Given the description of an element on the screen output the (x, y) to click on. 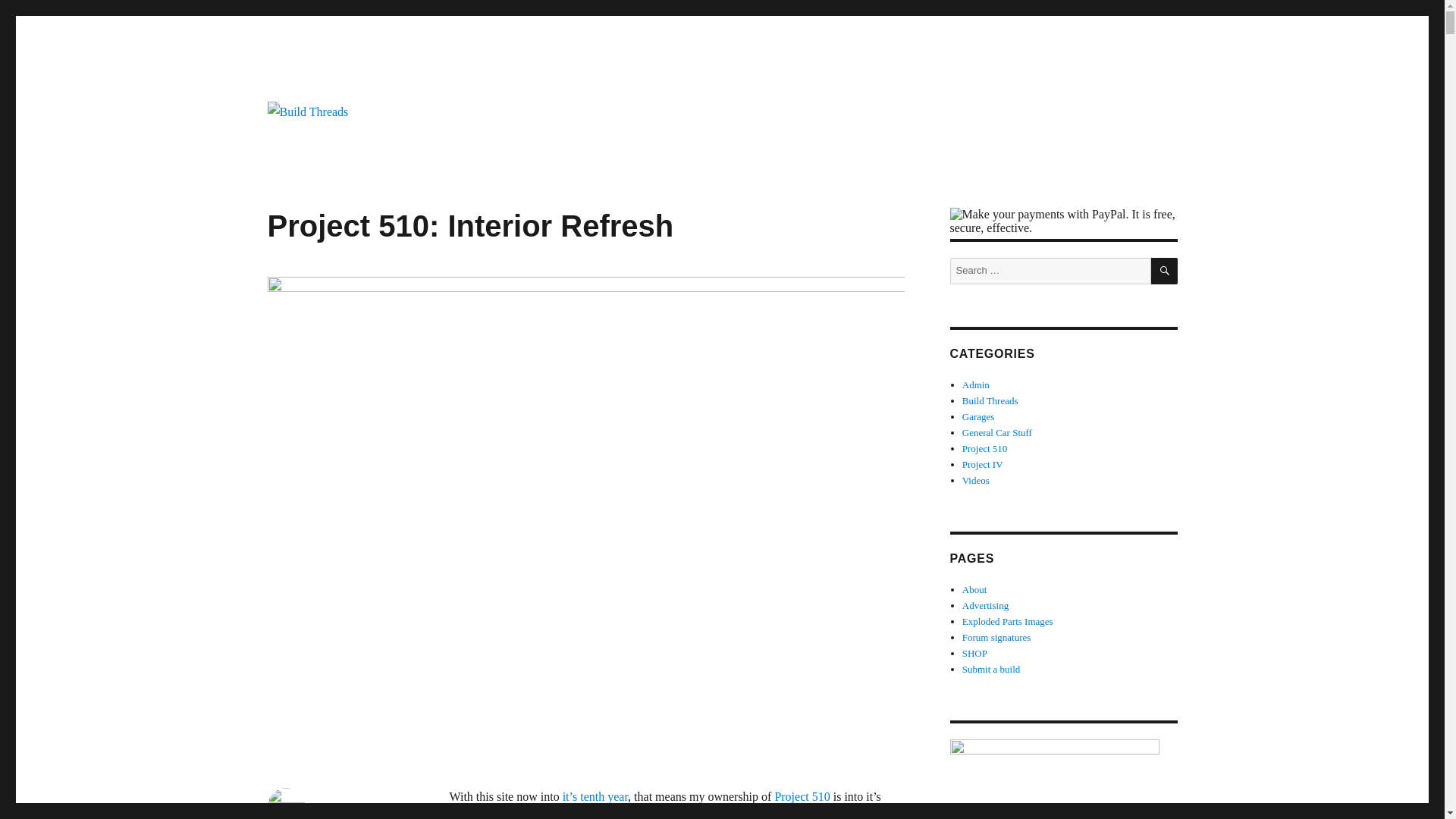
wheels (881, 815)
Build Threads (337, 146)
Project 510 (801, 796)
